Given the description of an element on the screen output the (x, y) to click on. 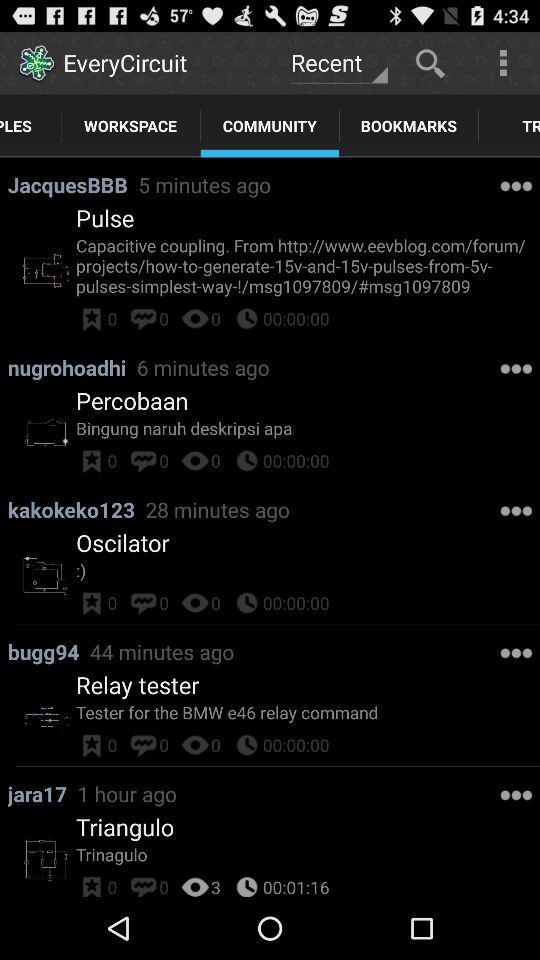
select the item below the trinagulo (215, 883)
